Given the description of an element on the screen output the (x, y) to click on. 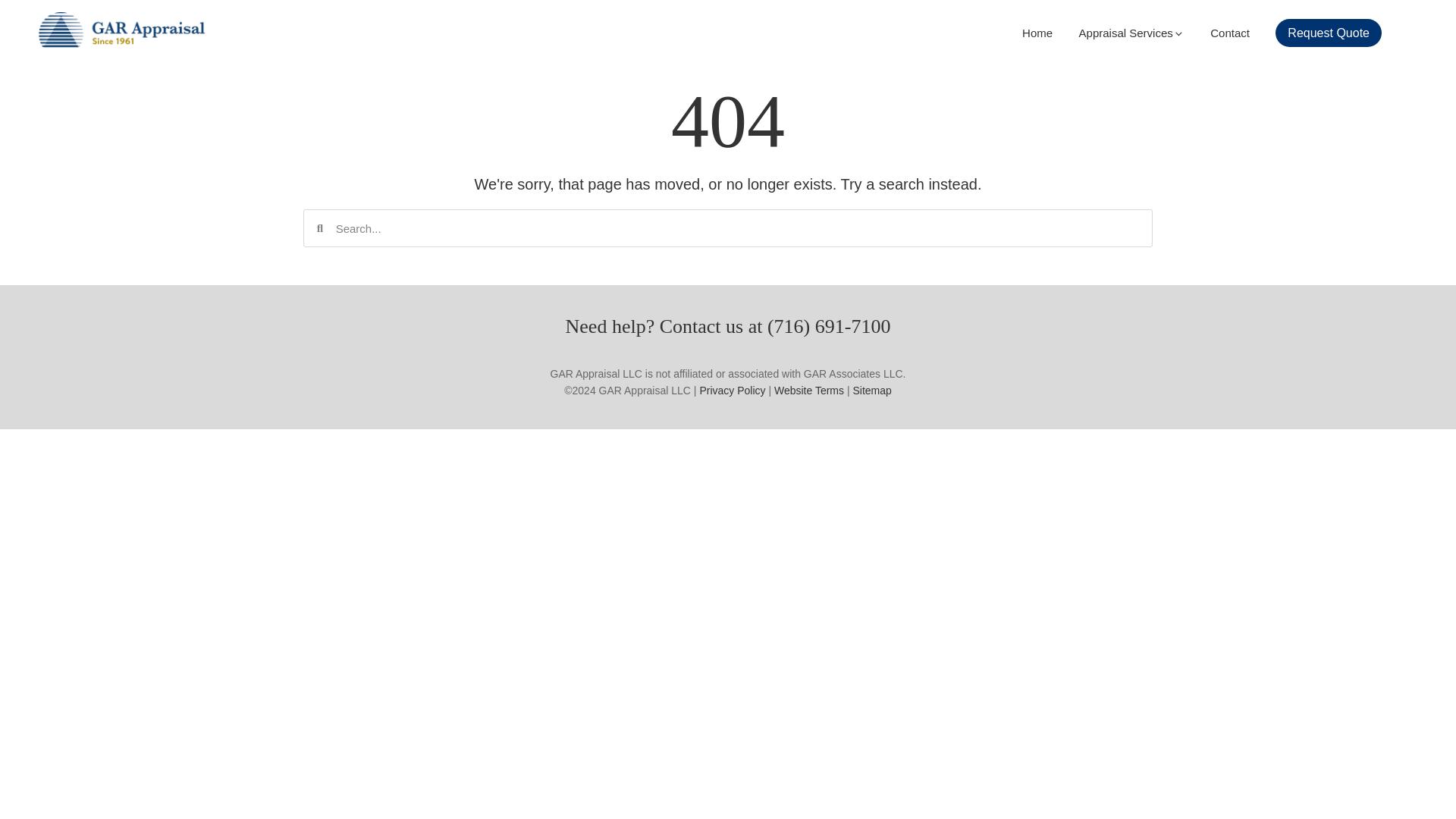
Contact (1229, 32)
Request Quote (1328, 32)
Home (1037, 32)
Appraisal Services (1131, 32)
